Given the description of an element on the screen output the (x, y) to click on. 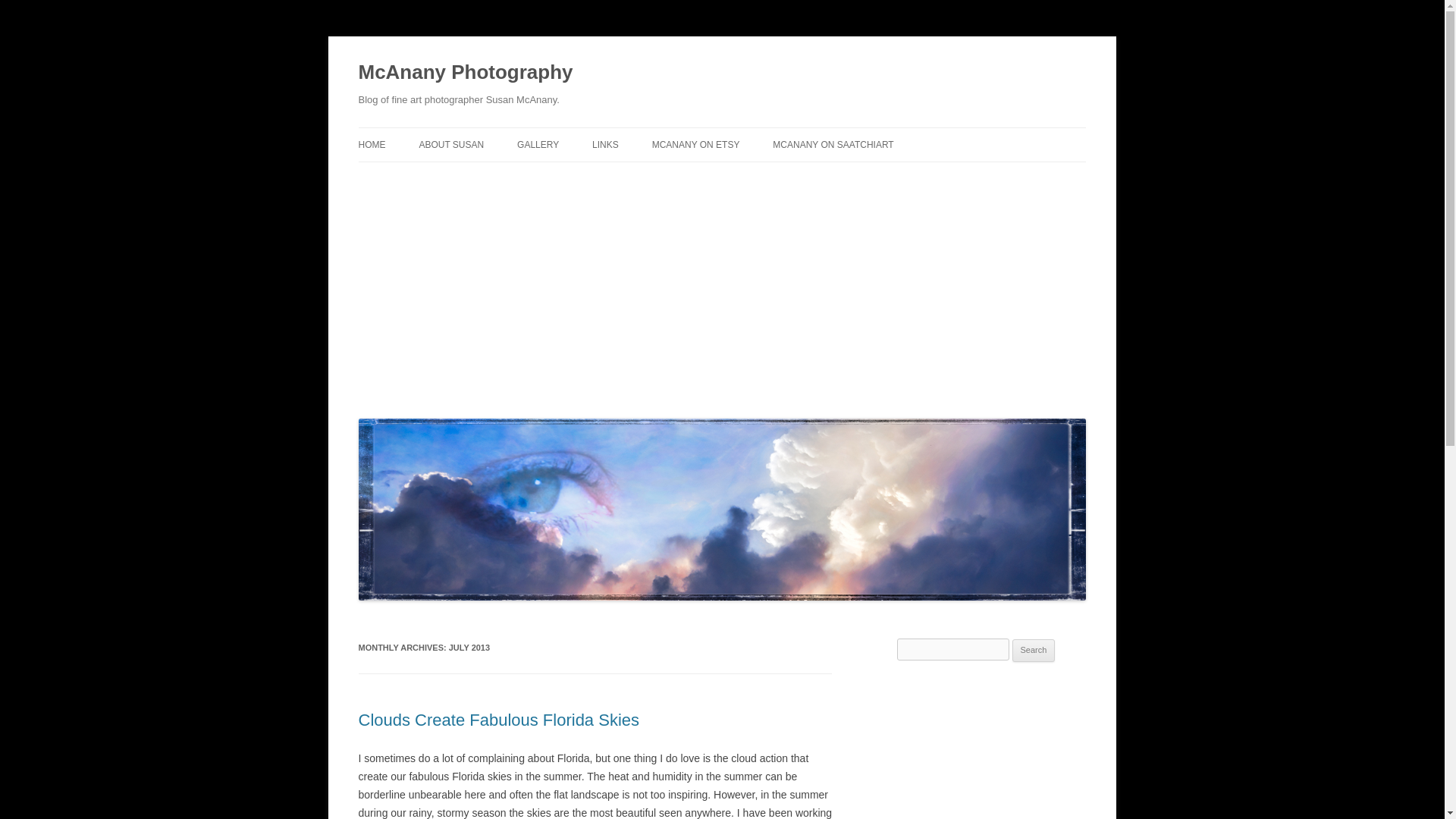
GALLERY (537, 144)
McAnany Photography (465, 72)
Search (1033, 650)
MCANANY ON SAATCHIART (833, 144)
MCANANY ON ETSY (695, 144)
ABOUT SUSAN (451, 144)
Search (1033, 650)
Clouds Create Fabulous Florida Skies (498, 719)
